Given the description of an element on the screen output the (x, y) to click on. 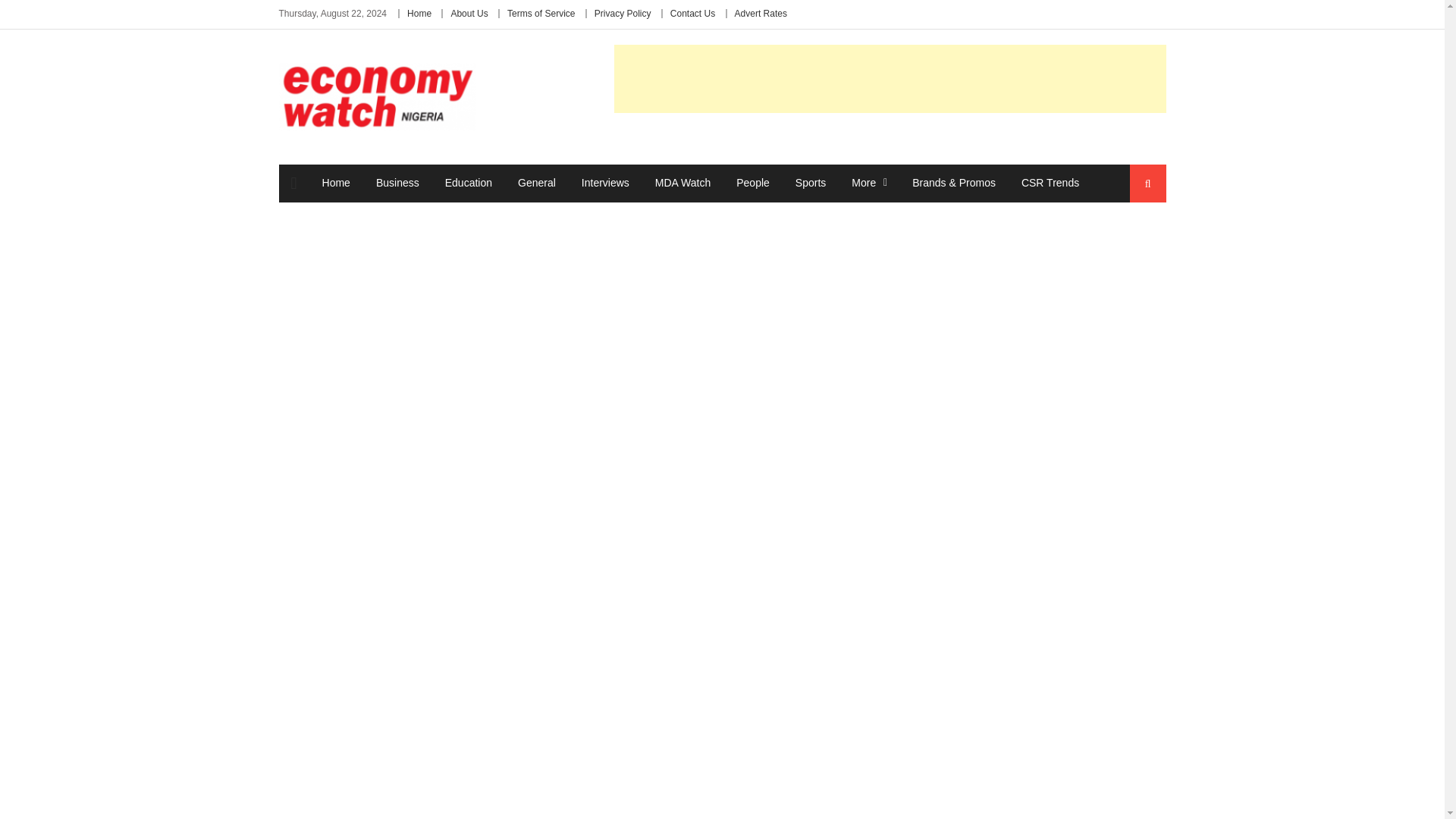
About Us (468, 13)
Education (468, 182)
CSR Trends (1050, 182)
Sports (810, 182)
Advert Rates (761, 13)
People (752, 182)
Home (336, 182)
Interviews (605, 182)
Contact Us (691, 13)
Privacy Policy (622, 13)
